Given the description of an element on the screen output the (x, y) to click on. 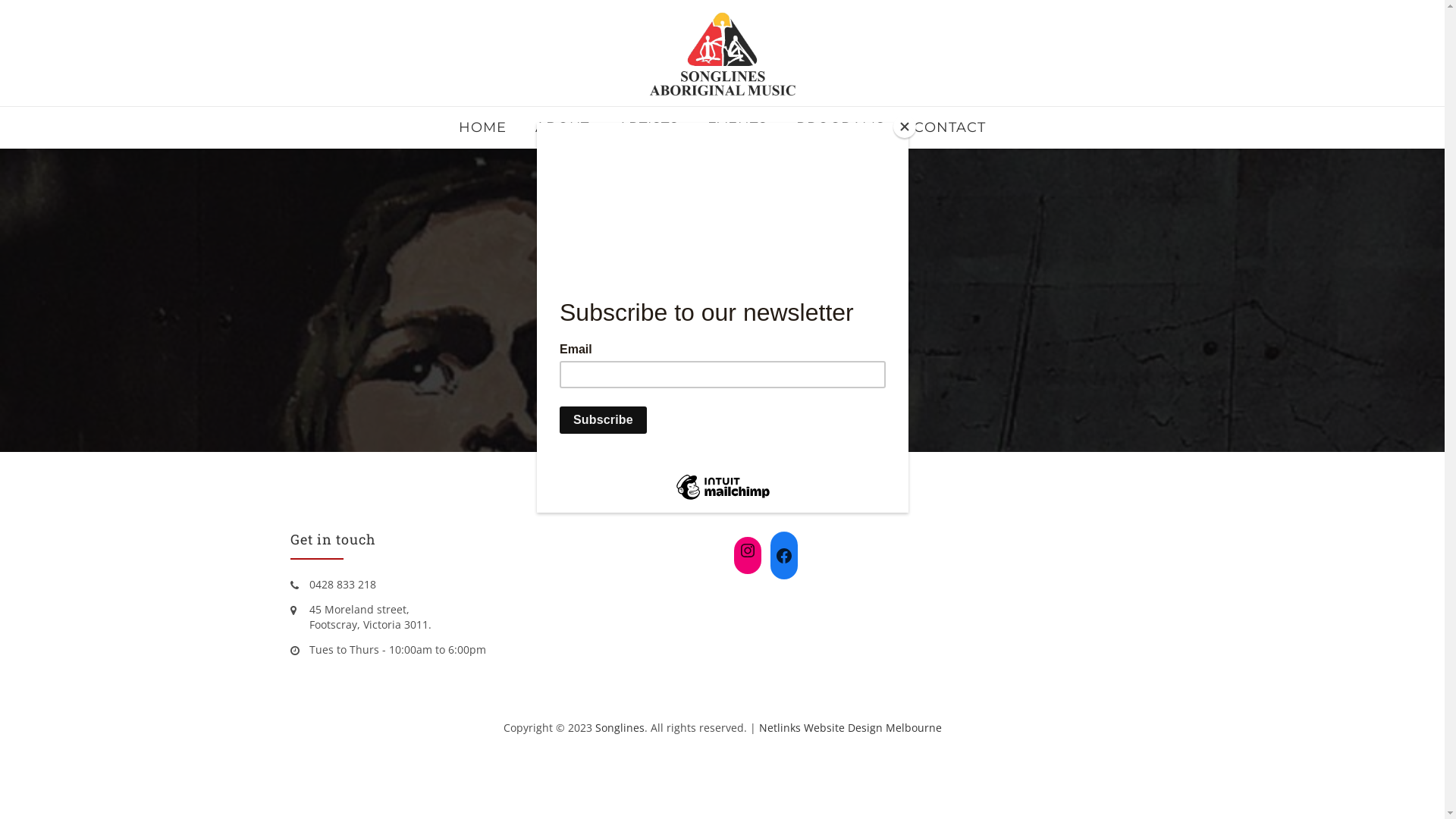
Facebook Element type: text (783, 555)
HOME Element type: text (482, 127)
Songlines Element type: text (618, 727)
CONTACT Element type: text (949, 127)
ARTISTS Element type: text (648, 127)
Instagram Element type: text (747, 550)
Skip to content Element type: text (289, 106)
ABOUT Element type: text (562, 127)
Songlines Element type: hover (722, 53)
Netlinks Website Design Melbourne Element type: text (849, 727)
PROGRAMS Element type: text (840, 127)
EVENTS Element type: text (737, 127)
